Given the description of an element on the screen output the (x, y) to click on. 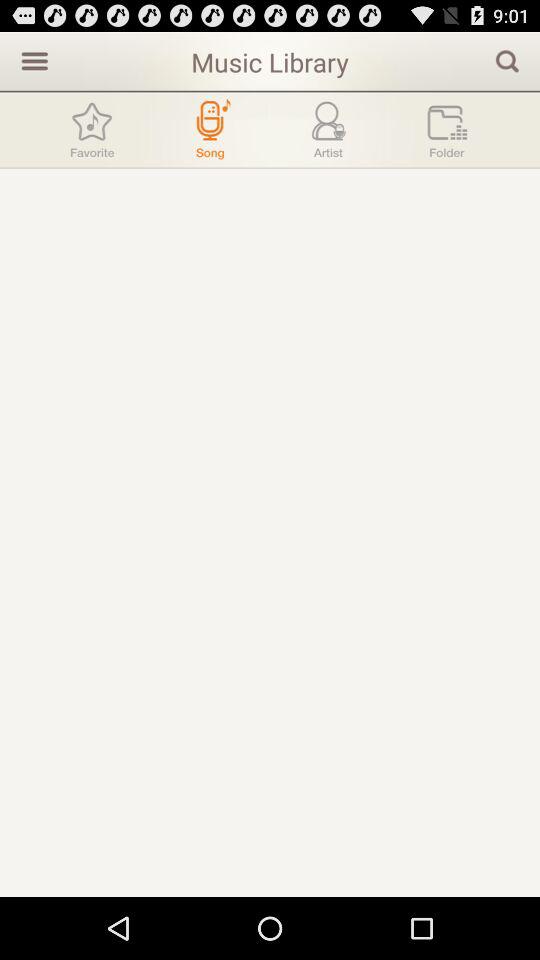
click app to the right of the music library app (507, 60)
